Given the description of an element on the screen output the (x, y) to click on. 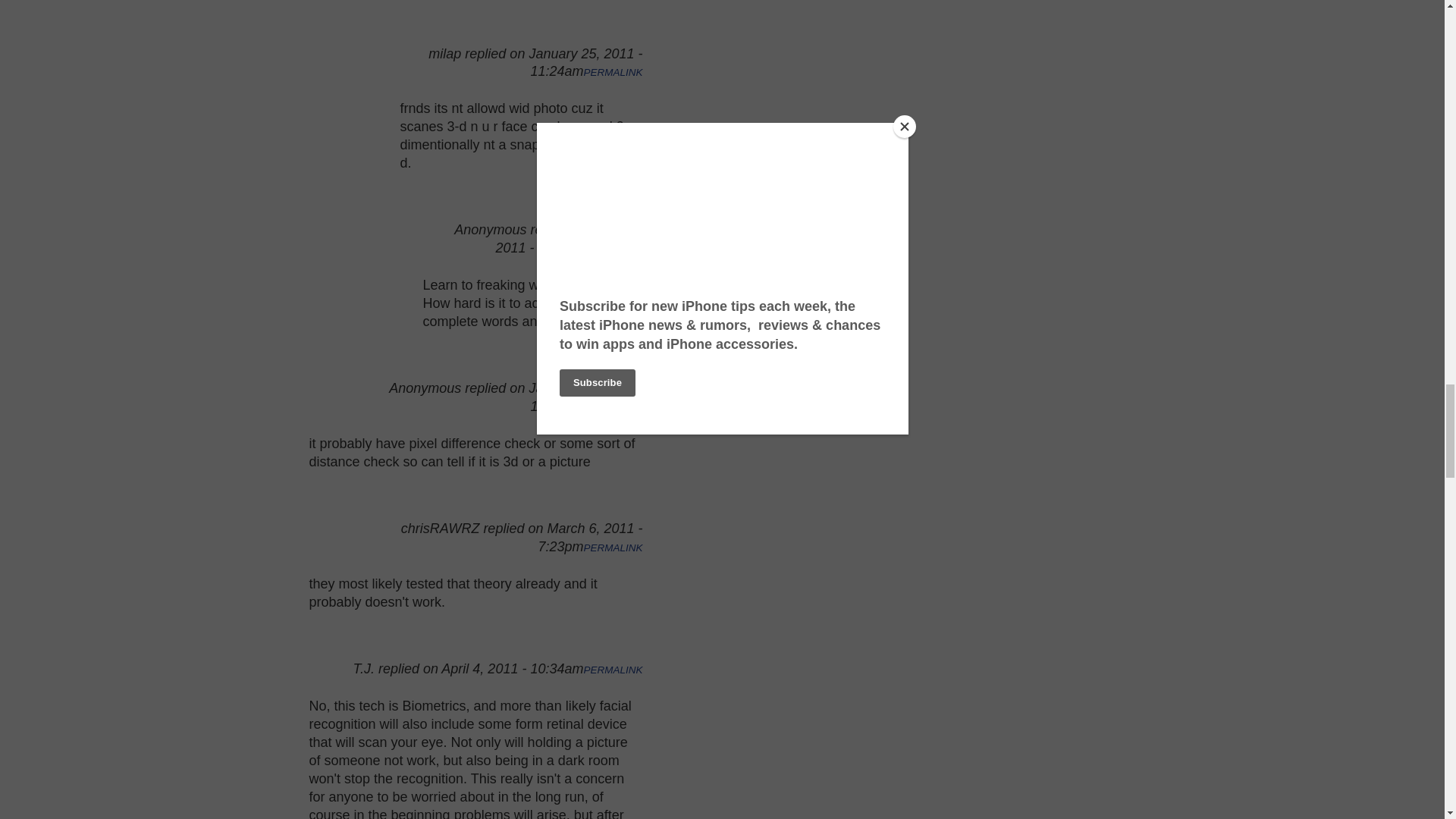
PERMALINK (612, 71)
